Given the description of an element on the screen output the (x, y) to click on. 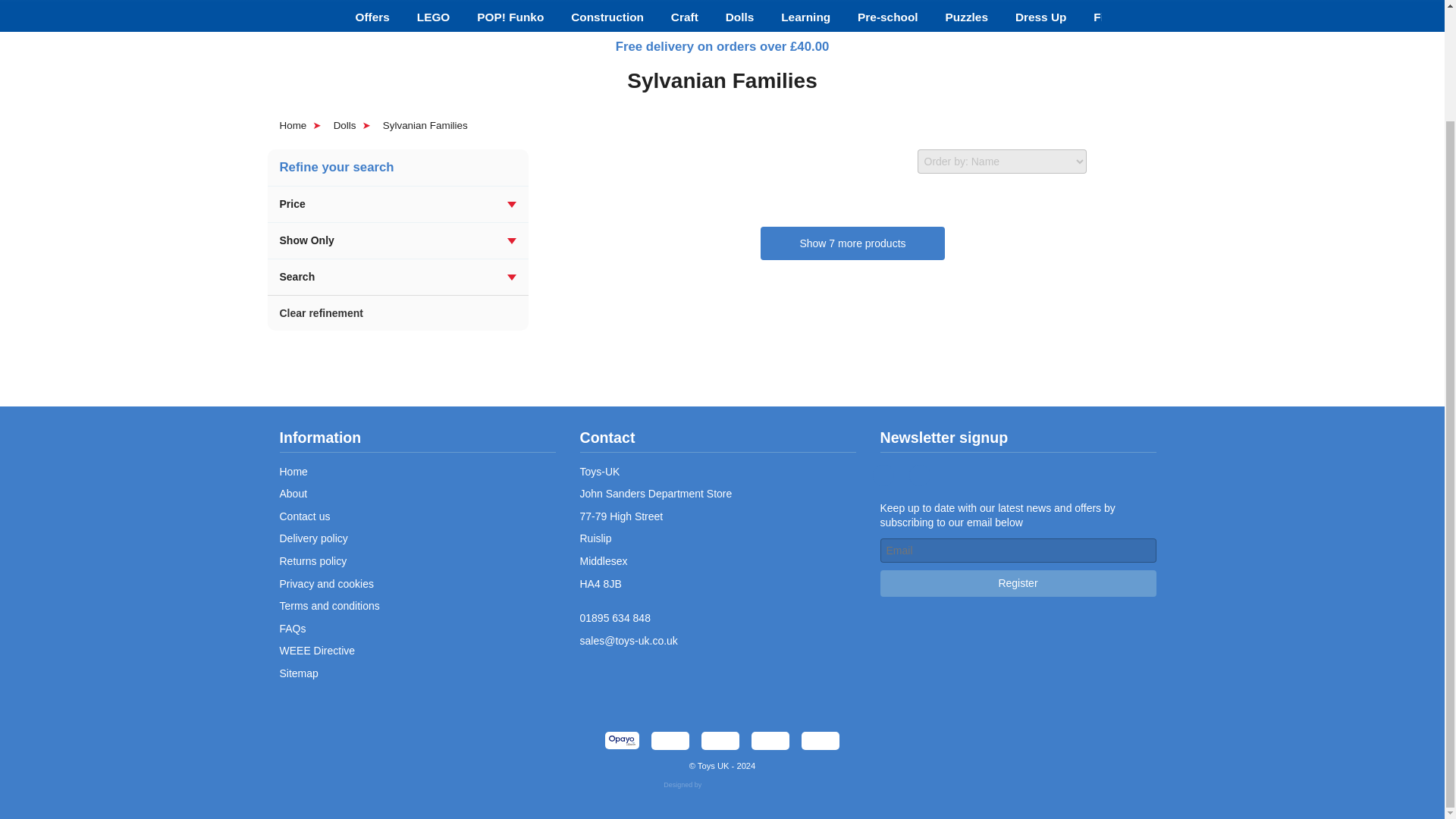
Offers (371, 16)
Thumbnail view (1109, 161)
LEGO (433, 16)
List view (1146, 161)
